Given the description of an element on the screen output the (x, y) to click on. 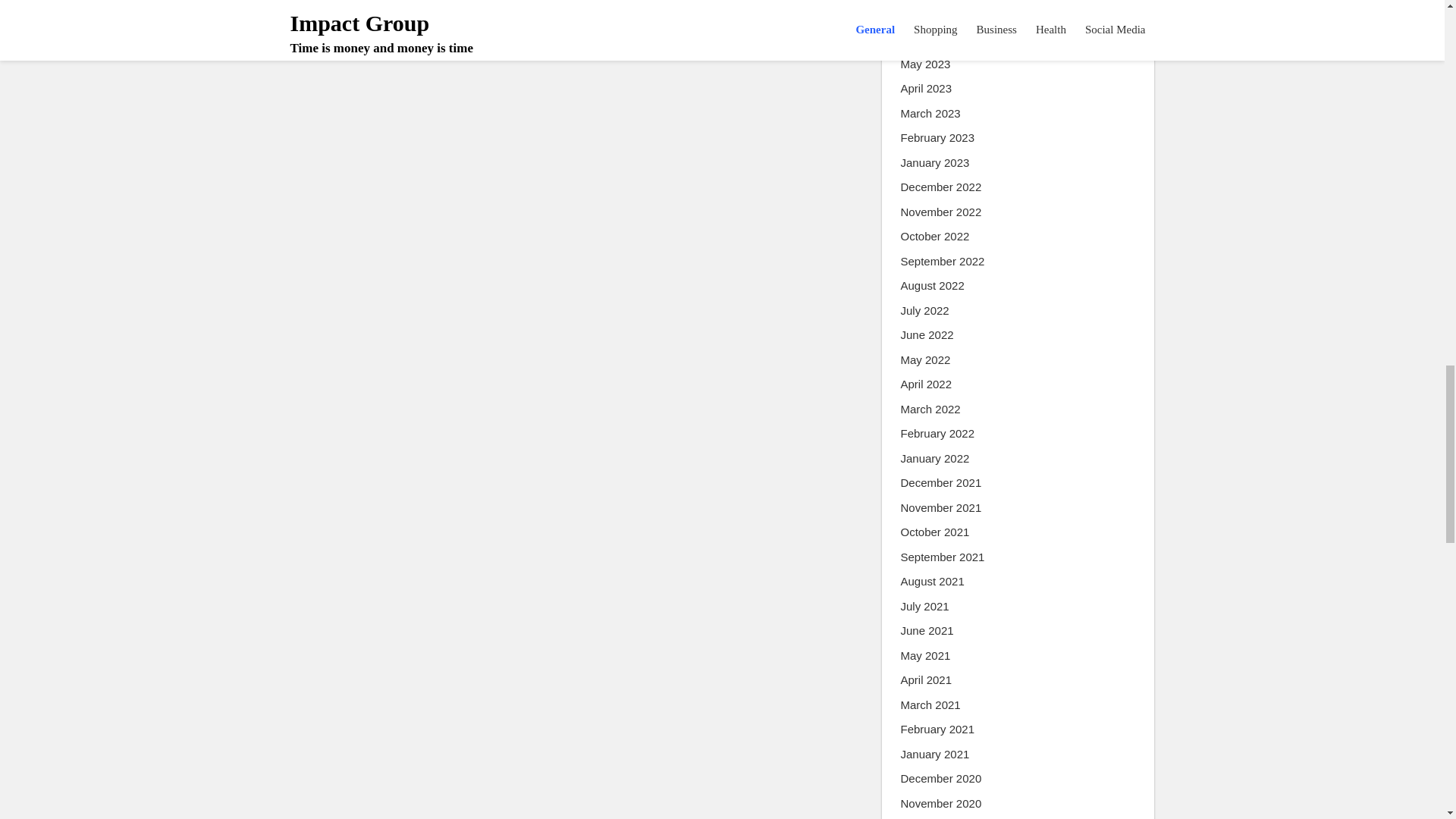
June 2023 (927, 39)
July 2023 (925, 15)
March 2023 (930, 113)
May 2023 (925, 64)
February 2023 (938, 138)
April 2023 (926, 88)
